Given the description of an element on the screen output the (x, y) to click on. 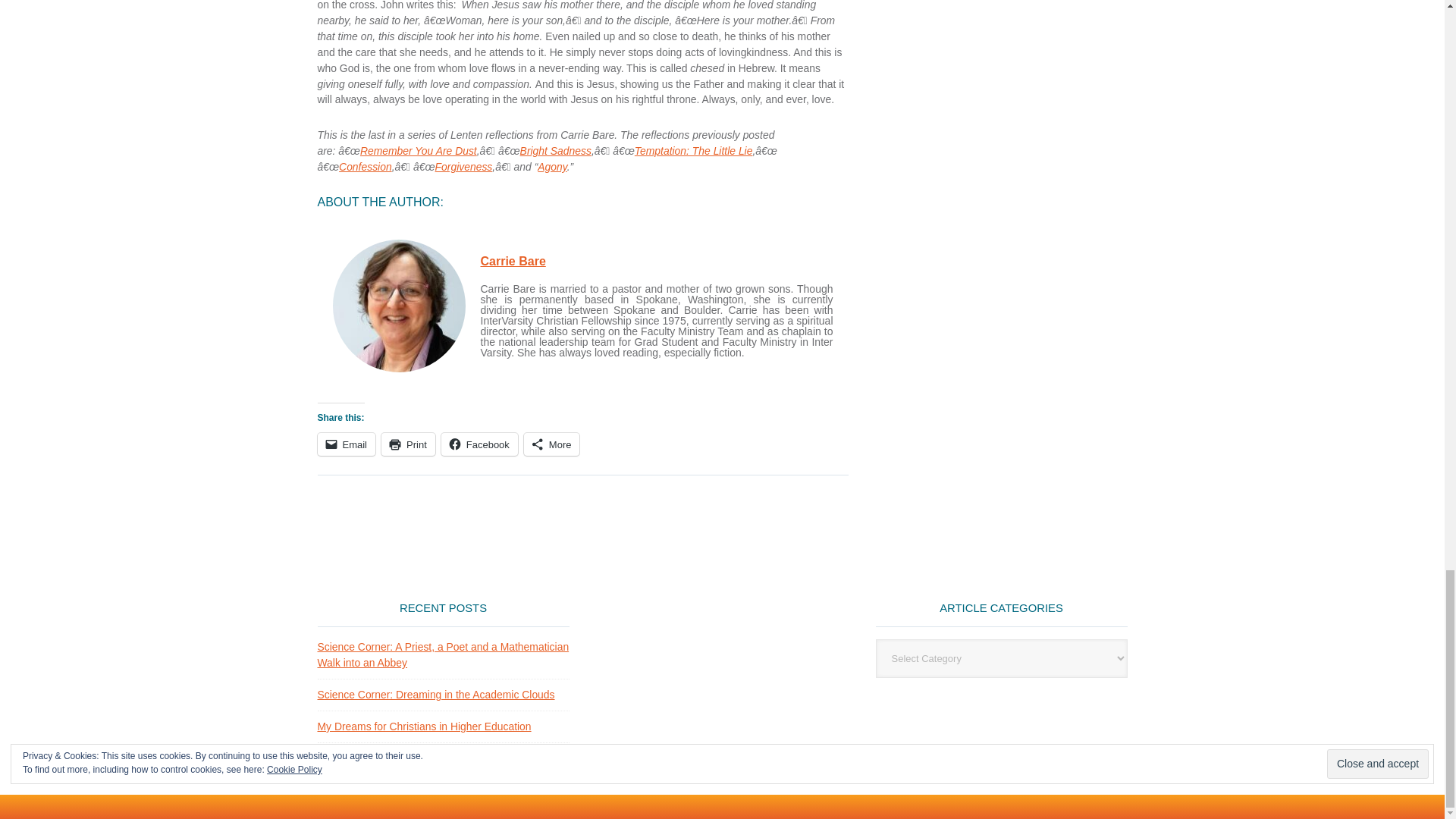
Email (346, 443)
Click to share on Facebook (479, 443)
Agony (551, 166)
Carrie Bare (513, 260)
Bright Sadness (555, 150)
Remember You Are Dust (418, 150)
Click to print (408, 443)
Confession (365, 166)
Print (408, 443)
Forgiveness (464, 166)
